Given the description of an element on the screen output the (x, y) to click on. 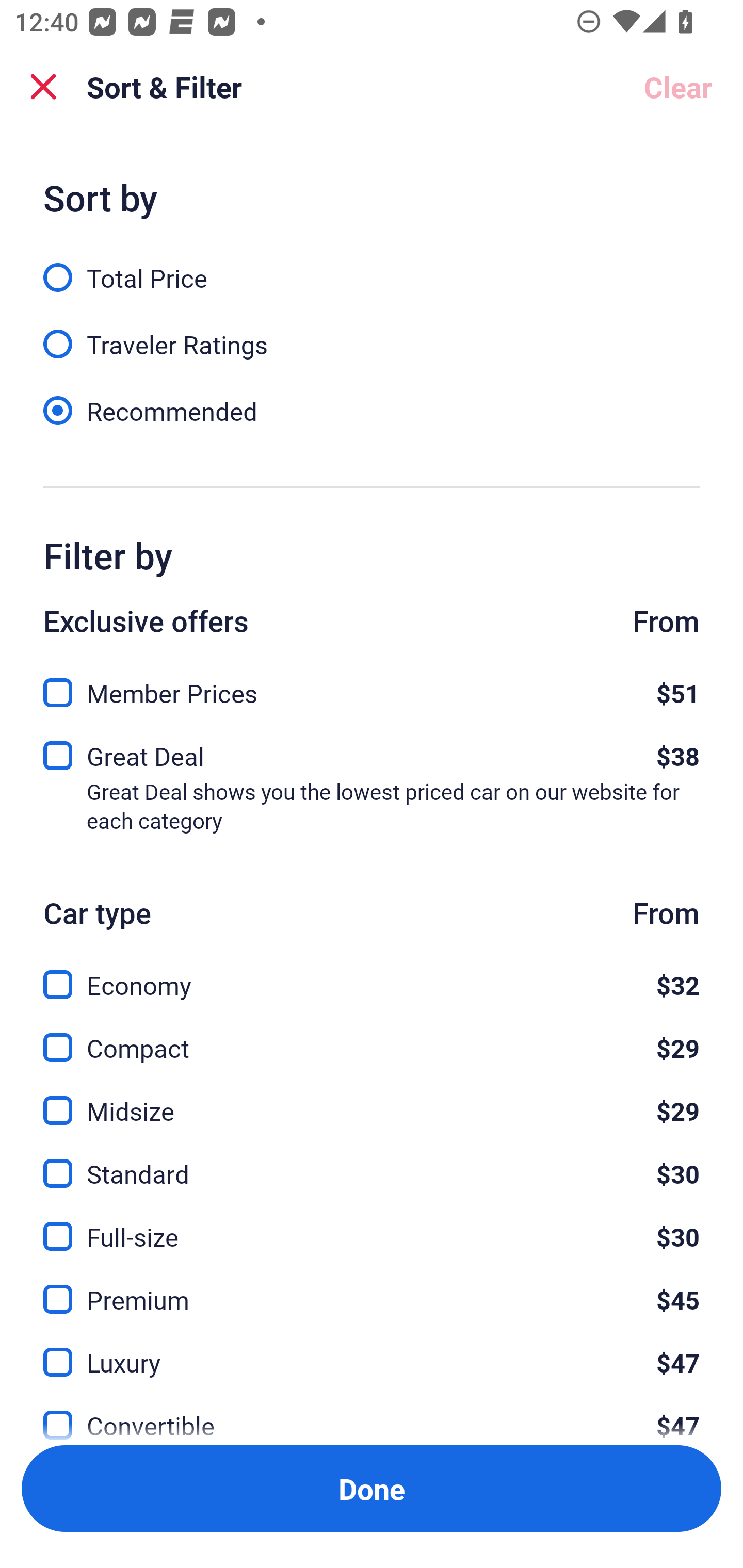
Close Sort and Filter (43, 86)
Clear (677, 86)
Total Price (371, 266)
Traveler Ratings (371, 332)
Member Prices, $51 Member Prices $51 (371, 686)
Economy, $32 Economy $32 (371, 973)
Compact, $29 Compact $29 (371, 1036)
Midsize, $29 Midsize $29 (371, 1098)
Standard, $30 Standard $30 (371, 1161)
Full-size, $30 Full-size $30 (371, 1224)
Premium, $45 Premium $45 (371, 1286)
Luxury, $47 Luxury $47 (371, 1350)
Convertible, $47 Convertible $47 (371, 1413)
Apply and close Sort and Filter Done (371, 1488)
